Given the description of an element on the screen output the (x, y) to click on. 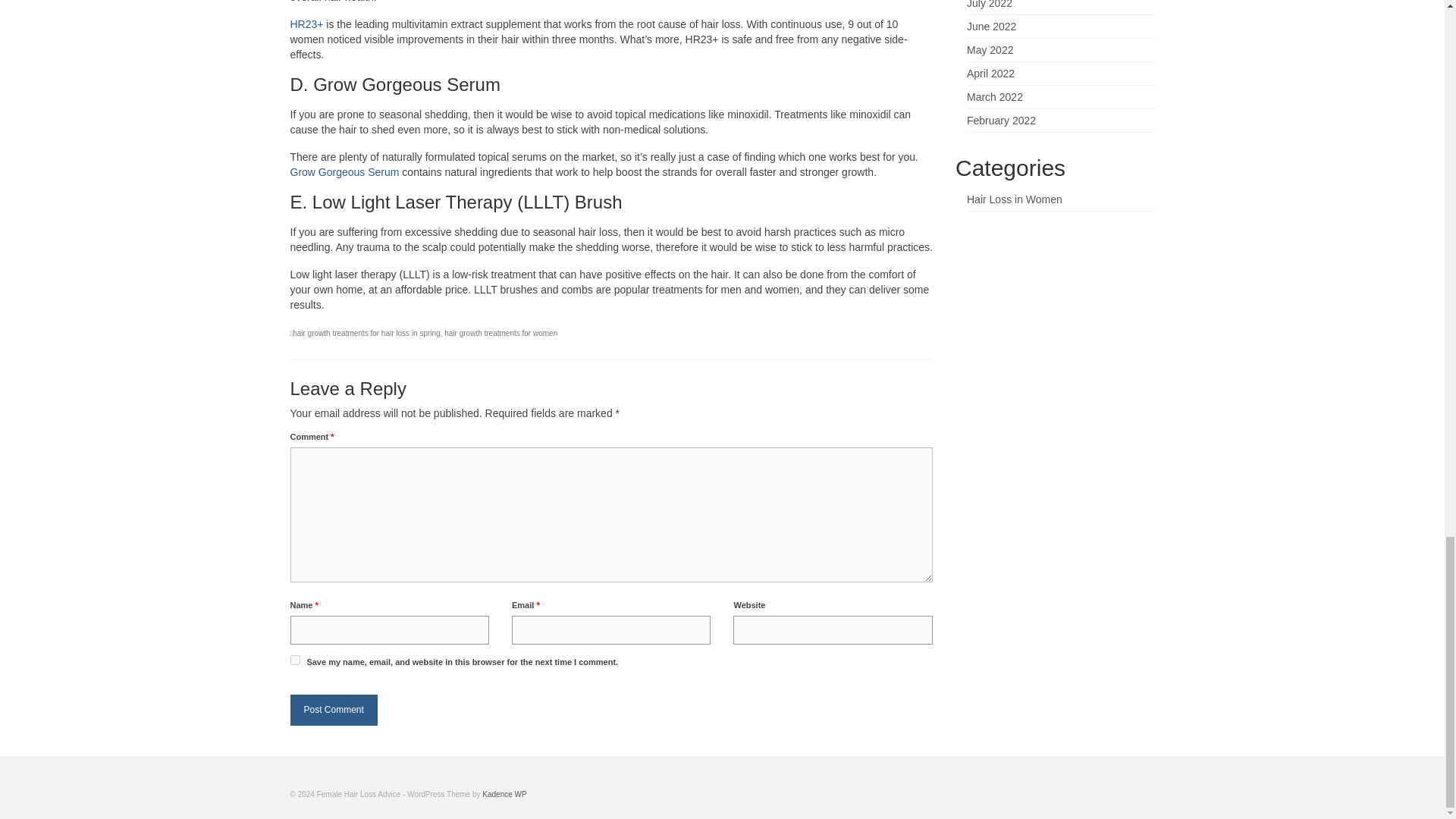
hair growth treatments for hair loss in spring (366, 333)
Grow Gorgeous Serum (343, 172)
Post Comment (333, 709)
Post Comment (333, 709)
hair growth treatments for women (500, 333)
yes (294, 660)
